Given the description of an element on the screen output the (x, y) to click on. 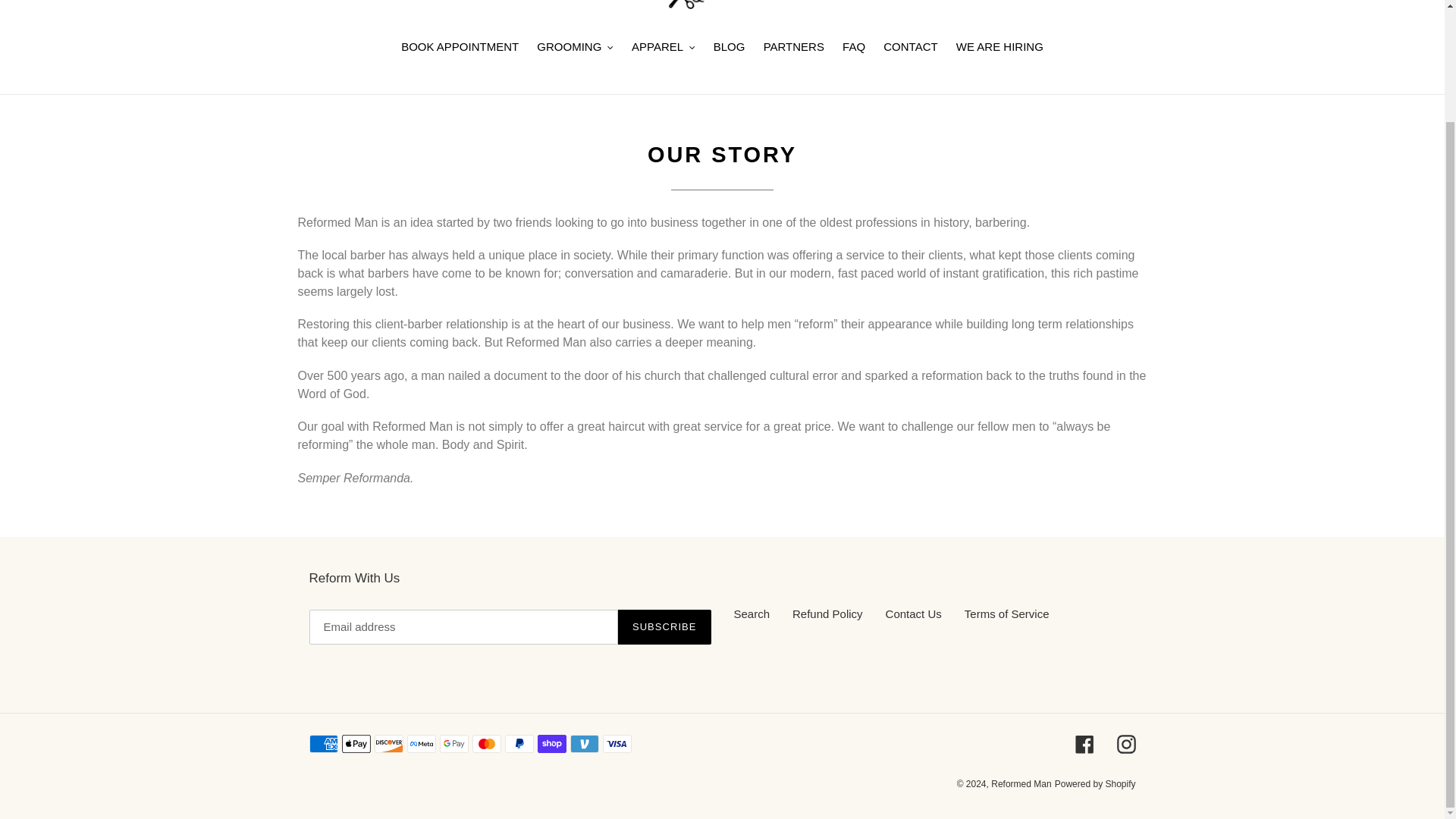
GROOMING (575, 48)
APPAREL (663, 48)
BOOK APPOINTMENT (459, 48)
